Given the description of an element on the screen output the (x, y) to click on. 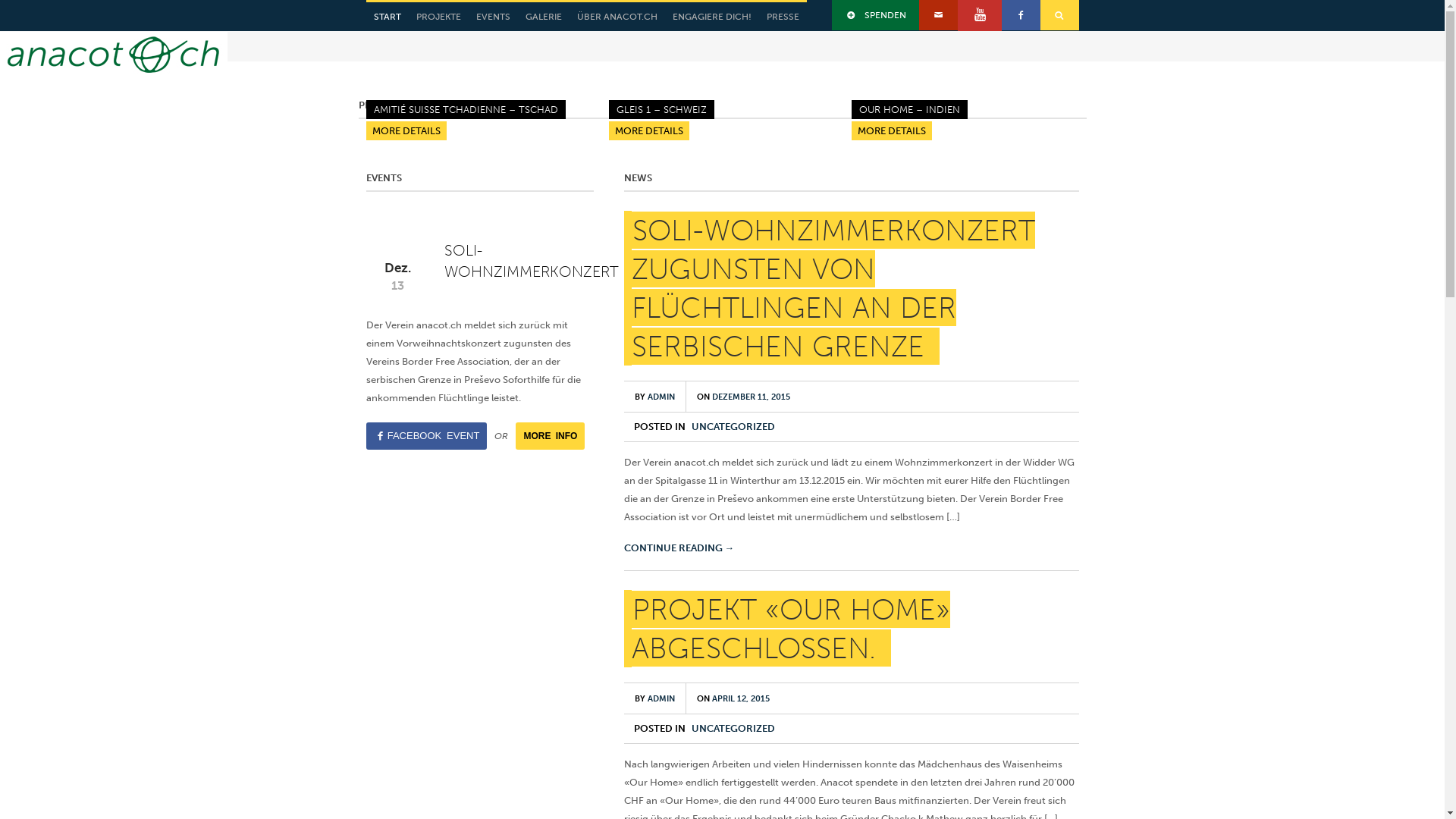
FACEBOOK EVENT Element type: text (425, 435)
MORE DETAILS Element type: text (648, 130)
START Element type: text (386, 16)
PROJEKTE Element type: text (437, 16)
EVENTS Element type: text (492, 16)
ON APRIL 12, 2015 Element type: text (732, 698)
ENGAGIERE DICH! Element type: text (711, 16)
MORE DETAILS Element type: text (890, 130)
SPENDEN Element type: text (875, 15)
UNCATEGORIZED Element type: text (733, 426)
UNCATEGORIZED Element type: text (733, 728)
GALERIE Element type: text (542, 16)
PRESSE Element type: text (782, 16)
SOLI-WOHNZIMMERKONZERT Element type: text (531, 260)
ON DEZEMBER 11, 2015 Element type: text (742, 396)
MORE INFO Element type: text (549, 435)
MORE DETAILS Element type: text (405, 130)
BY ADMIN Element type: text (654, 698)
BY ADMIN Element type: text (654, 396)
